Given the description of an element on the screen output the (x, y) to click on. 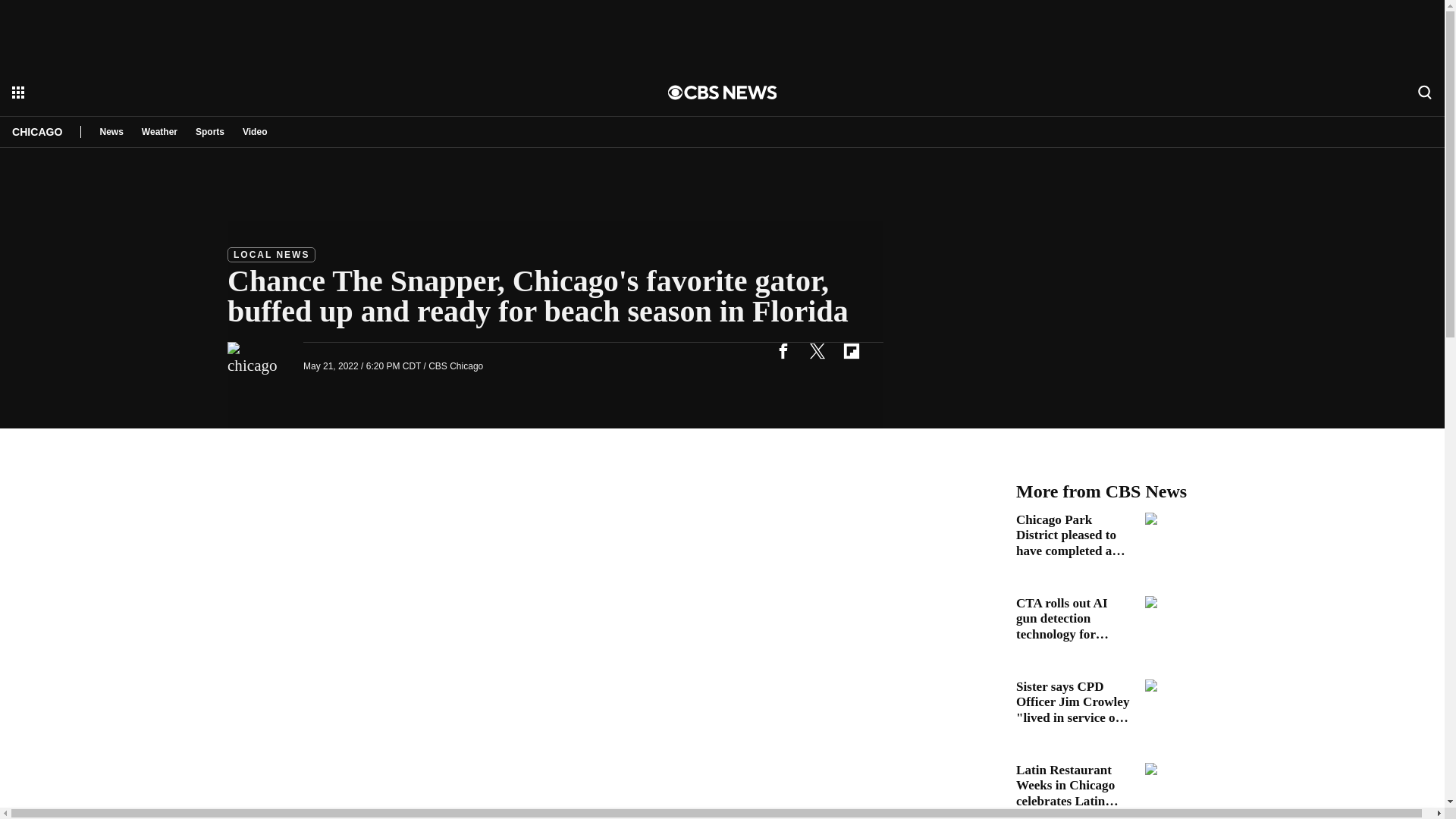
facebook (782, 350)
twitter (816, 350)
flipboard (850, 350)
